Given the description of an element on the screen output the (x, y) to click on. 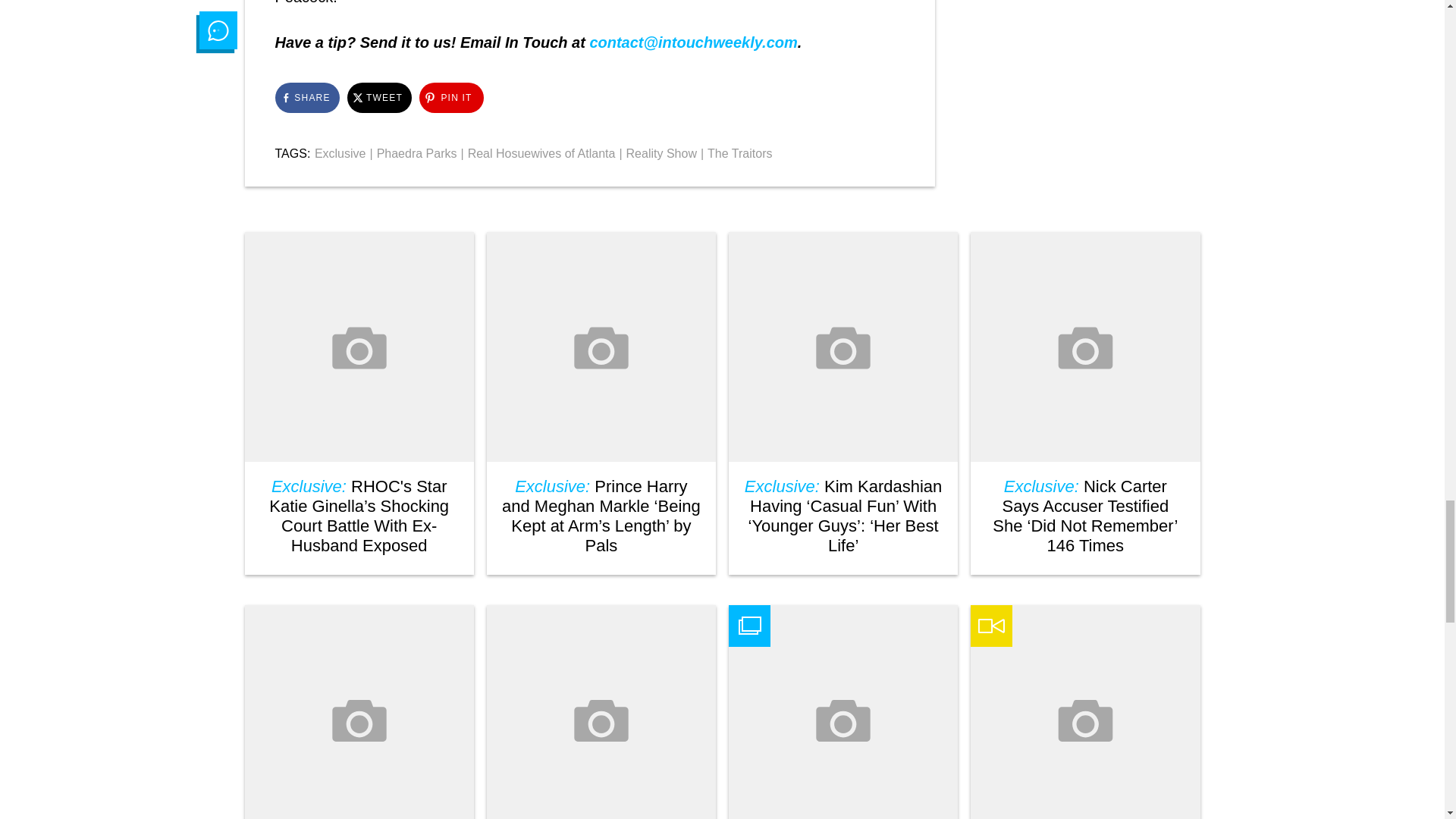
Click to share on Pinterest (451, 97)
Click to share on Facebook (307, 97)
Click to share on Twitter (379, 97)
